Given the description of an element on the screen output the (x, y) to click on. 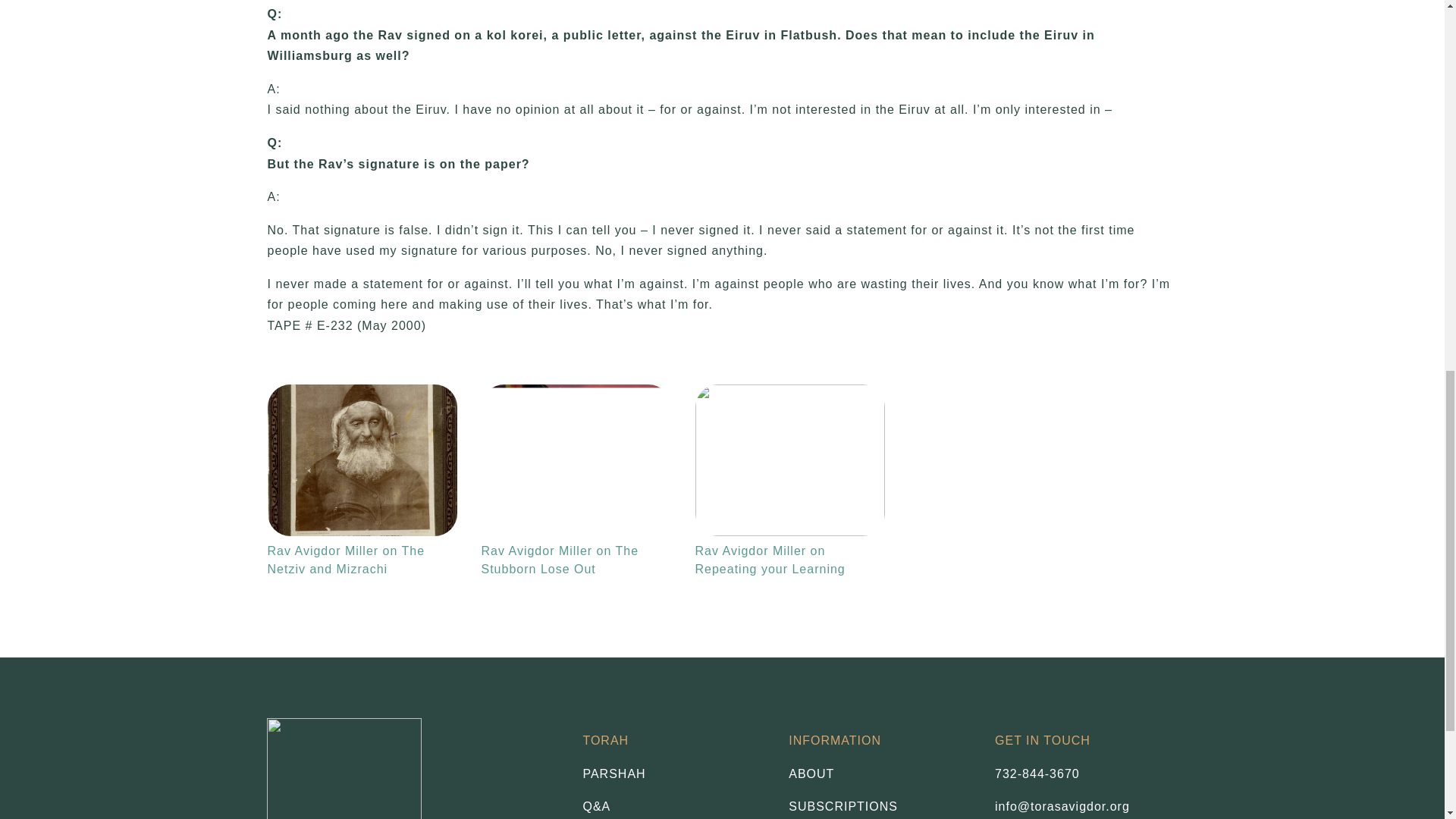
SUBSCRIPTIONS (880, 806)
Rav Avigdor Miller on The Stubborn Lose Out (574, 460)
PARSHAH (673, 773)
footer-img (344, 768)
Rav Avigdor Miller on Repeating your Learning (788, 460)
ABOUT (880, 773)
Rav Avigdor Miller on The Netziv and Mizrachi (361, 460)
732-844-3670 (1037, 773)
